Given the description of an element on the screen output the (x, y) to click on. 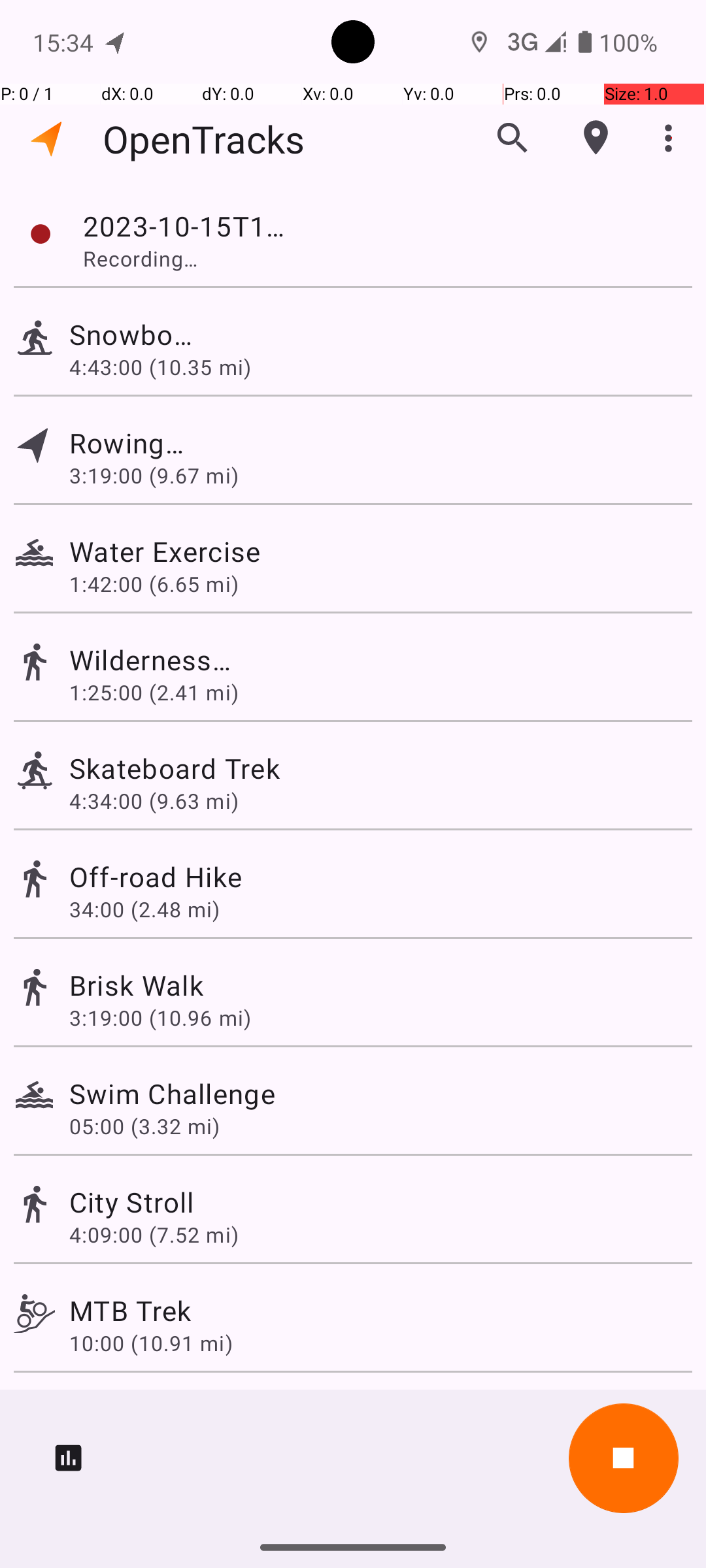
2023-10-15T15:34Z Element type: android.widget.TextView (185, 225)
Recording… Element type: android.widget.TextView (158, 258)
Snowboard Trek Element type: android.widget.TextView (131, 333)
4:43:00 (10.35 mi) Element type: android.widget.TextView (159, 366)
Rowing Adventure Element type: android.widget.TextView (129, 442)
3:19:00 (9.67 mi) Element type: android.widget.TextView (153, 475)
Water Exercise Element type: android.widget.TextView (222, 550)
1:42:00 (6.65 mi) Element type: android.widget.TextView (153, 583)
Wilderness Hike Element type: android.widget.TextView (151, 659)
1:25:00 (2.41 mi) Element type: android.widget.TextView (153, 692)
Skateboard Trek Element type: android.widget.TextView (174, 767)
4:34:00 (9.63 mi) Element type: android.widget.TextView (153, 800)
Off-road Hike Element type: android.widget.TextView (155, 876)
34:00 (2.48 mi) Element type: android.widget.TextView (144, 909)
Brisk Walk Element type: android.widget.TextView (135, 984)
3:19:00 (10.96 mi) Element type: android.widget.TextView (159, 1017)
Swim Challenge Element type: android.widget.TextView (171, 1092)
05:00 (3.32 mi) Element type: android.widget.TextView (144, 1125)
City Stroll Element type: android.widget.TextView (131, 1201)
4:09:00 (7.52 mi) Element type: android.widget.TextView (153, 1234)
MTB Trek Element type: android.widget.TextView (129, 1309)
10:00 (10.91 mi) Element type: android.widget.TextView (150, 1342)
Trail Running Adventure Element type: android.widget.TextView (222, 1408)
